Given the description of an element on the screen output the (x, y) to click on. 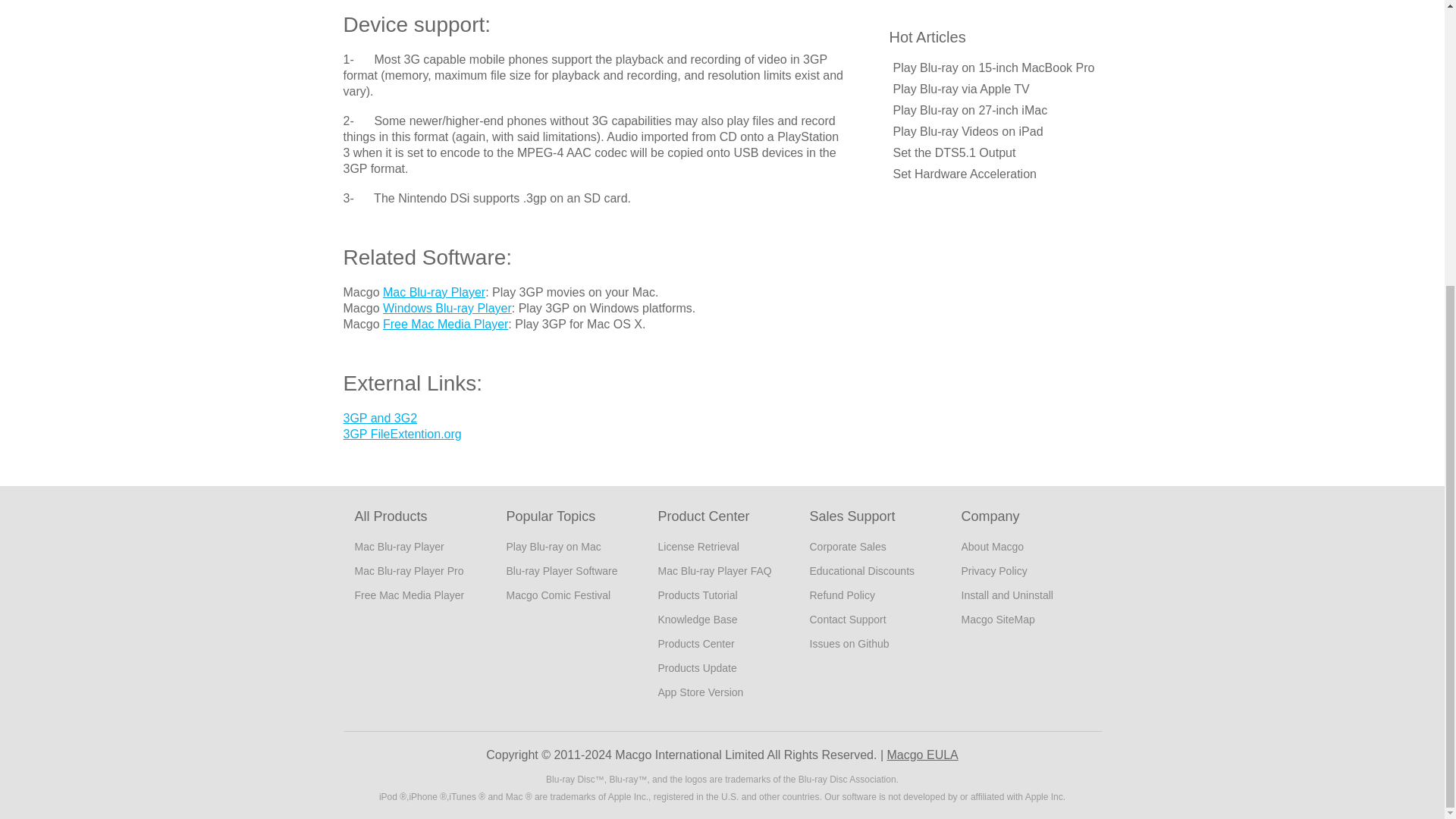
Play Blu-ray on 15-inch MacBook Pro (993, 67)
3GP FileExtention.org (401, 433)
Blu-ray Player Software (561, 571)
Free Mac Media Player (445, 323)
Play Blu-ray on 27-inch iMac (970, 110)
Play Blu-ray via Apple TV (961, 88)
Discuss technique issues with developers (849, 644)
Macgo Comic Festival (558, 594)
Mac Blu-ray Player (399, 546)
Windows Blu-ray Player (447, 308)
